Given the description of an element on the screen output the (x, y) to click on. 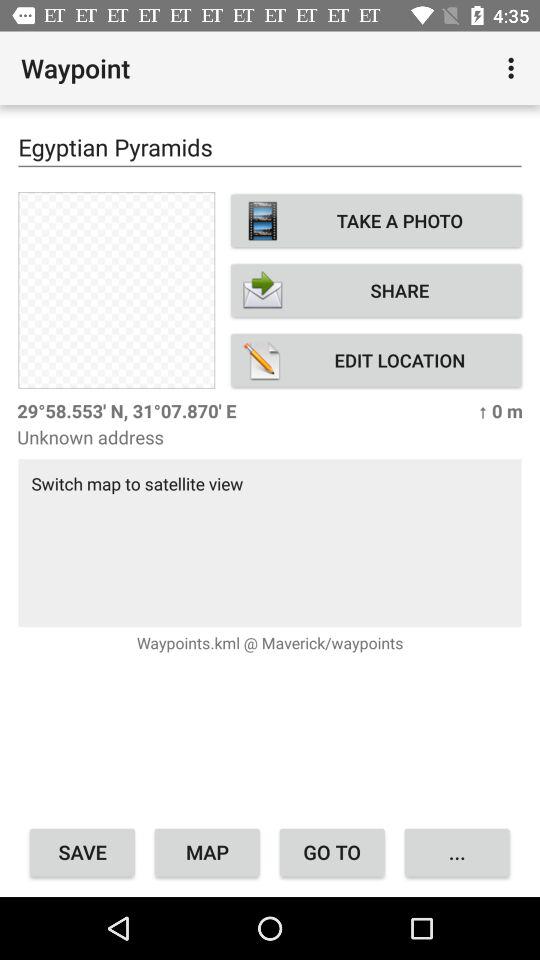
turn off ... (456, 851)
